Given the description of an element on the screen output the (x, y) to click on. 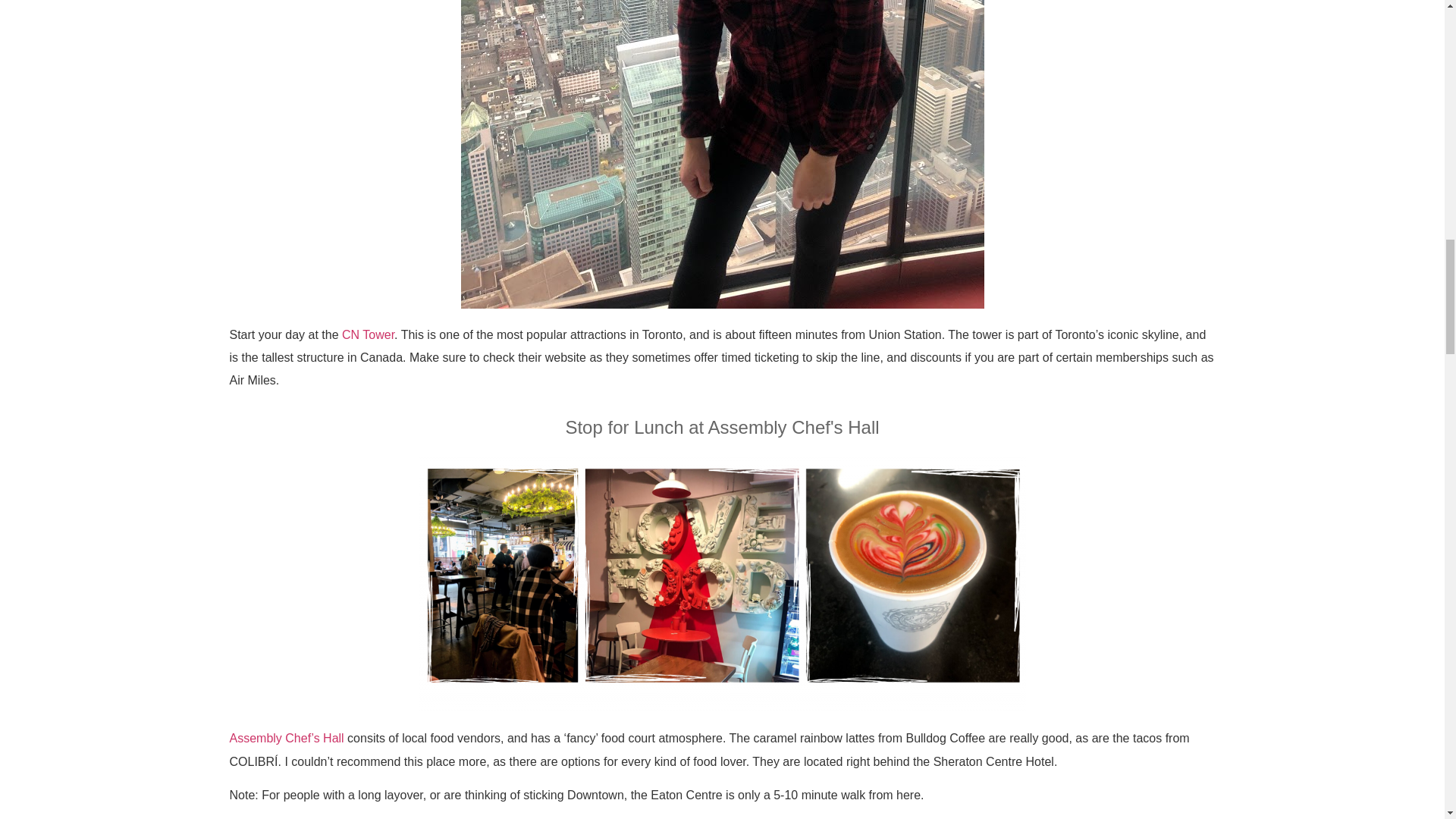
CN Tower (368, 334)
